Given the description of an element on the screen output the (x, y) to click on. 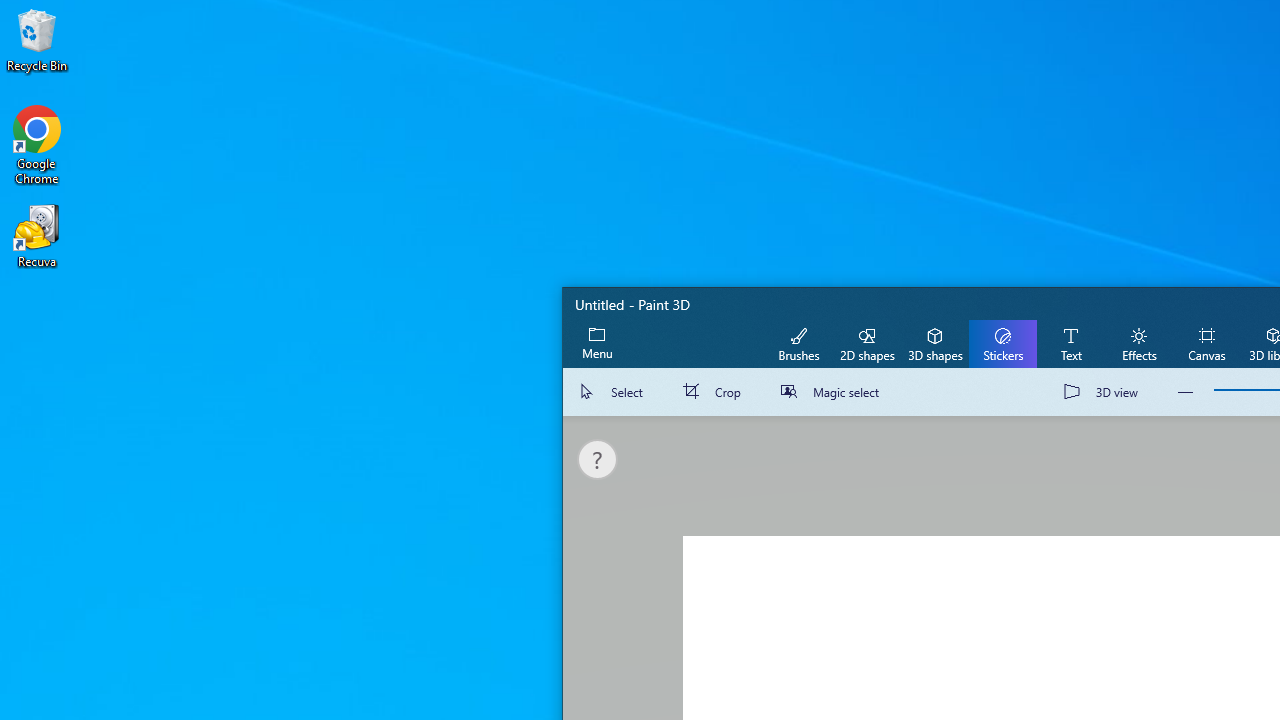
Get some help (597, 459)
3D shapes (934, 343)
Expand menu (597, 343)
Brushes (799, 343)
Canvas (1206, 343)
2D shapes (867, 343)
Select (614, 391)
Effects (1138, 343)
Magic select (833, 391)
Zoom out (1185, 391)
Crop (715, 391)
Stickers (1002, 343)
3D view (1105, 391)
Text (1070, 343)
